Given the description of an element on the screen output the (x, y) to click on. 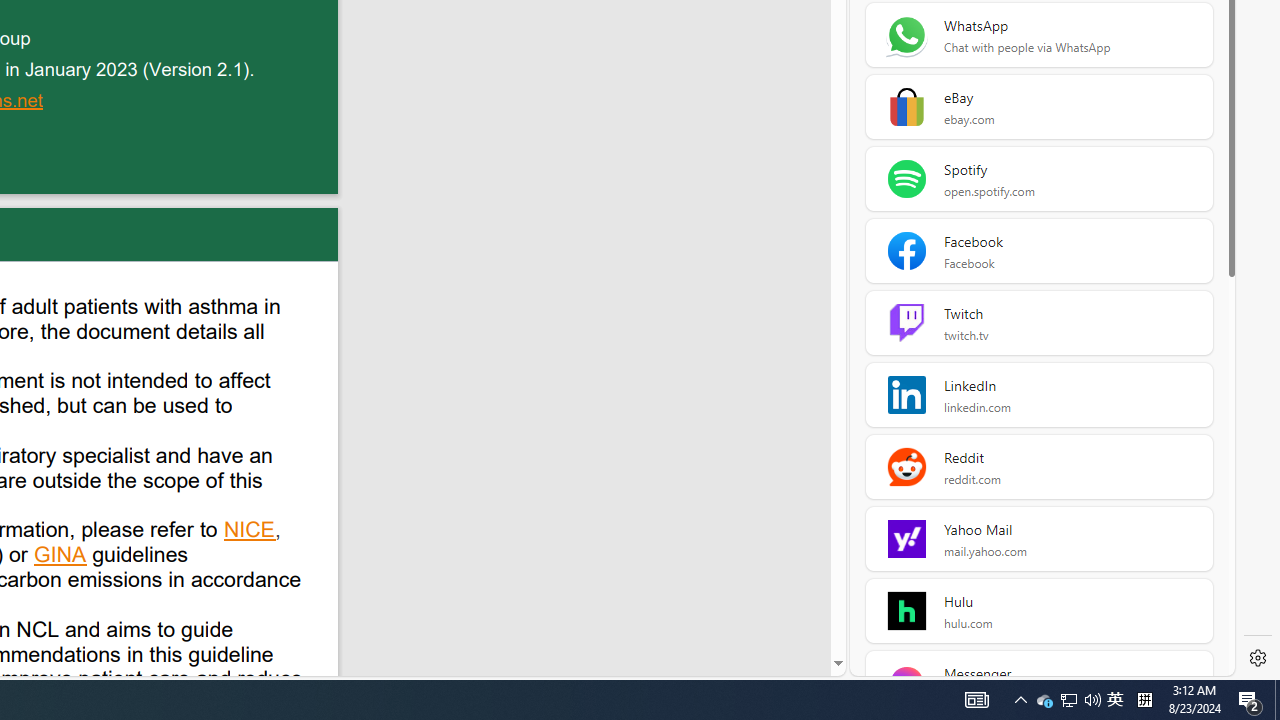
NICE (250, 532)
GINA  (61, 557)
